Given the description of an element on the screen output the (x, y) to click on. 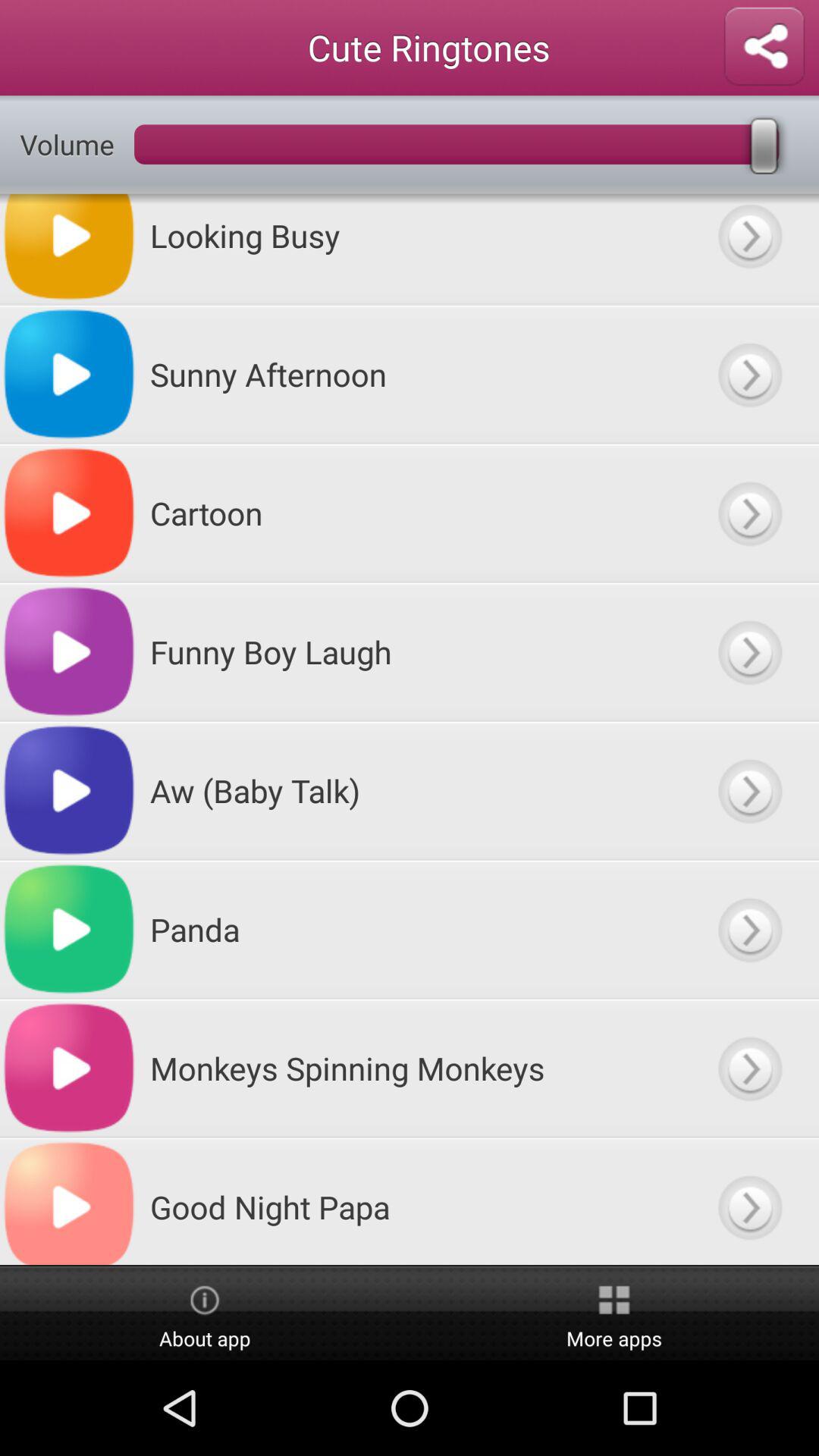
select option and go back (749, 248)
